Given the description of an element on the screen output the (x, y) to click on. 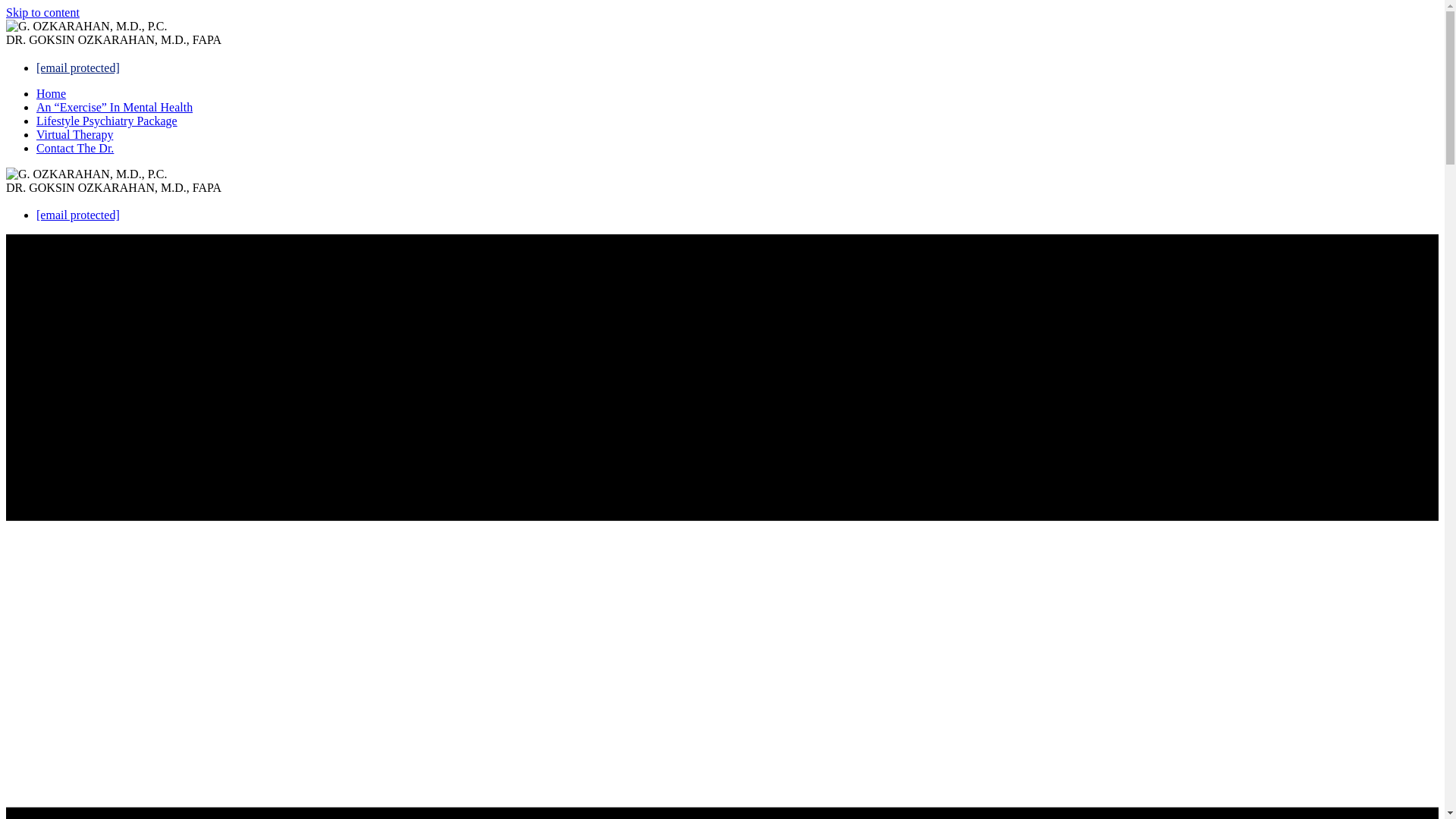
Home (50, 93)
G. OZKARAHAN, M.D., P.C. (86, 173)
G. OZKARAHAN, M.D., P.C. (86, 26)
Contact The Dr. (74, 148)
Skip to content (42, 11)
Lifestyle Psychiatry Package (106, 120)
Virtual Therapy (74, 134)
